Given the description of an element on the screen output the (x, y) to click on. 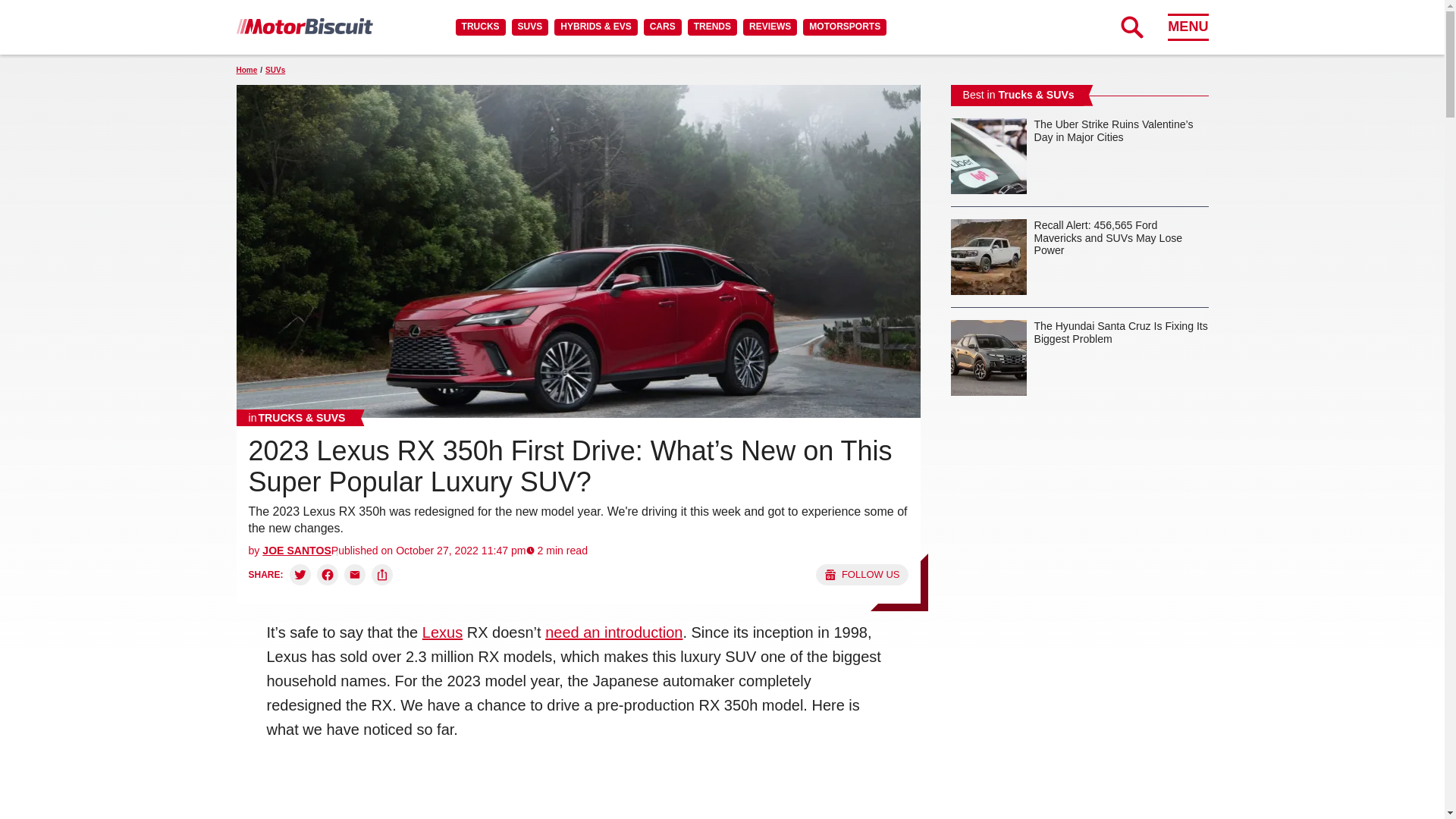
Expand Search (1131, 26)
MENU (1187, 26)
CARS (662, 26)
SUVS (530, 26)
TRENDS (711, 26)
MotorBiscuit (303, 26)
Copy link and share:  (382, 574)
MOTORSPORTS (844, 26)
REVIEWS (769, 26)
